Given the description of an element on the screen output the (x, y) to click on. 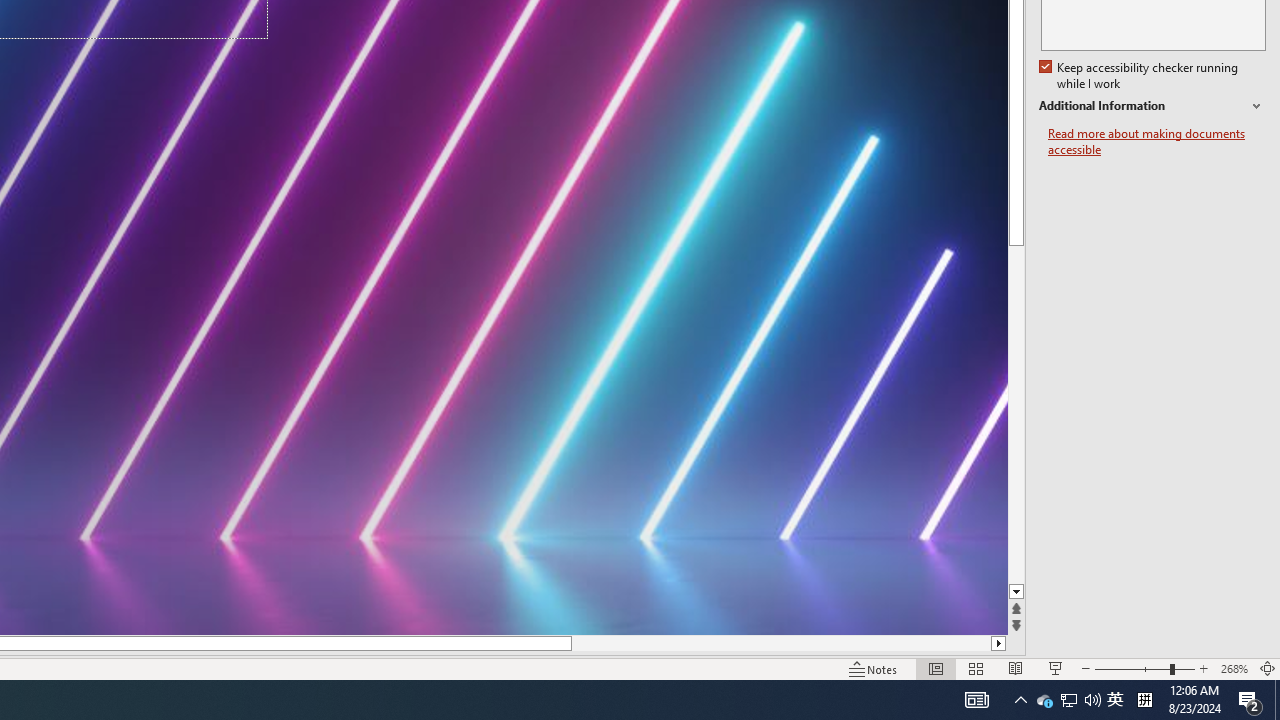
Zoom 268% (1234, 668)
